Given the description of an element on the screen output the (x, y) to click on. 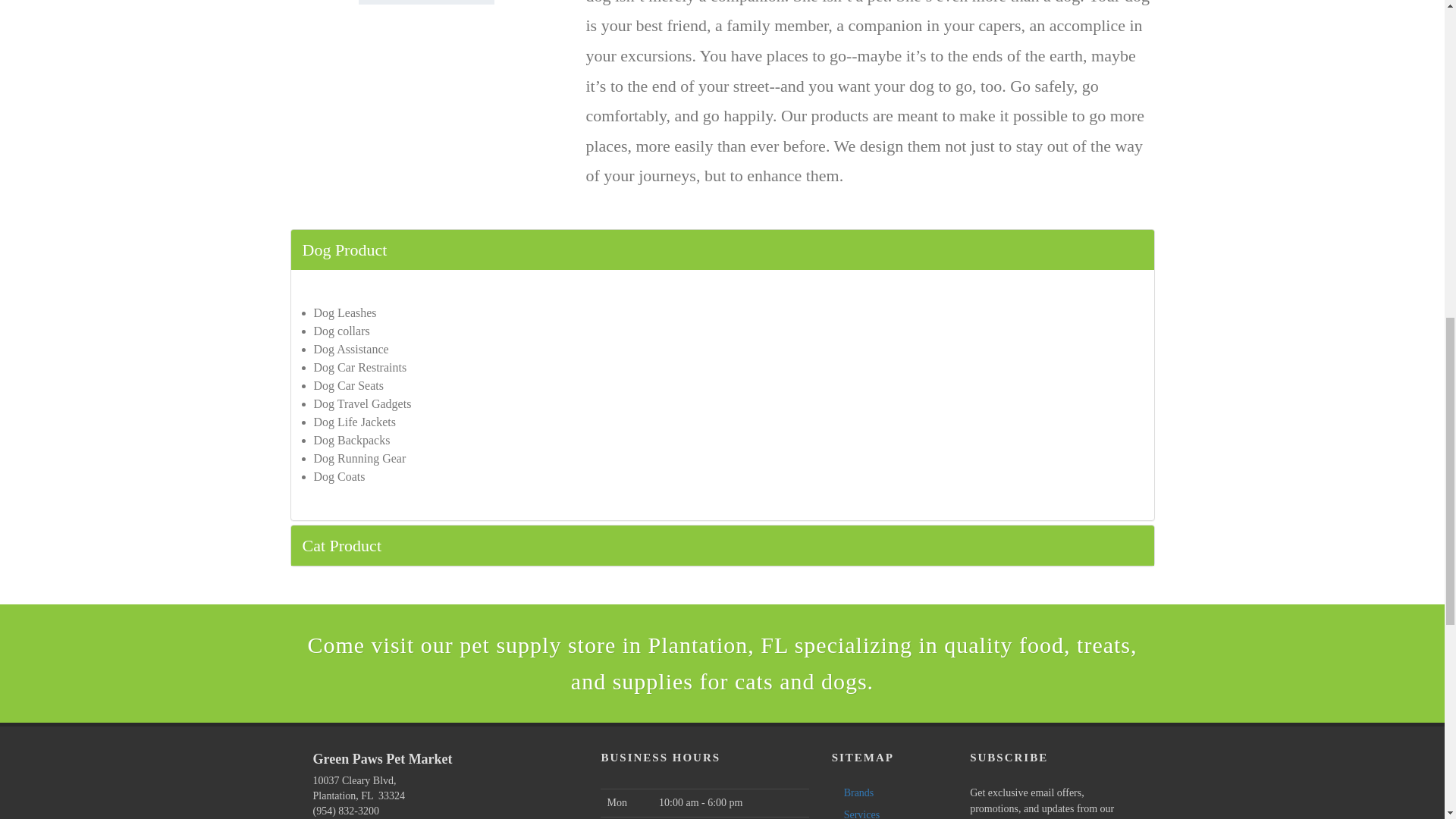
Services (858, 812)
Cat Product (722, 545)
Buy Kurgo in Plantation, FL from Green Paws Pet Market (426, 2)
Green Paws Pet Market (433, 767)
Brands (855, 792)
Dog Product (722, 250)
